Given the description of an element on the screen output the (x, y) to click on. 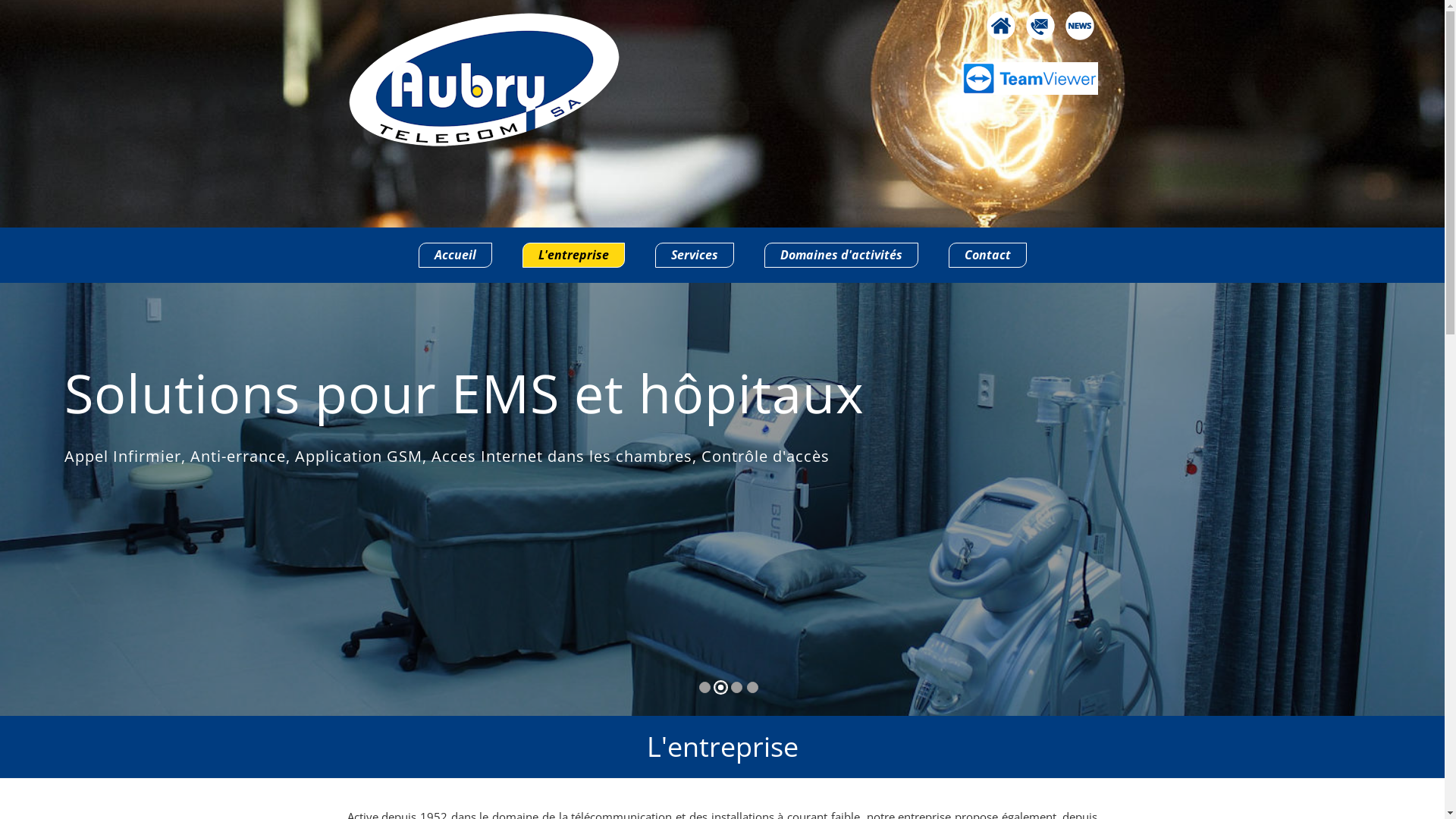
Services Element type: text (694, 254)
L'entreprise Element type: text (572, 254)
Contact Element type: text (986, 254)
Accueil Element type: text (455, 254)
